Given the description of an element on the screen output the (x, y) to click on. 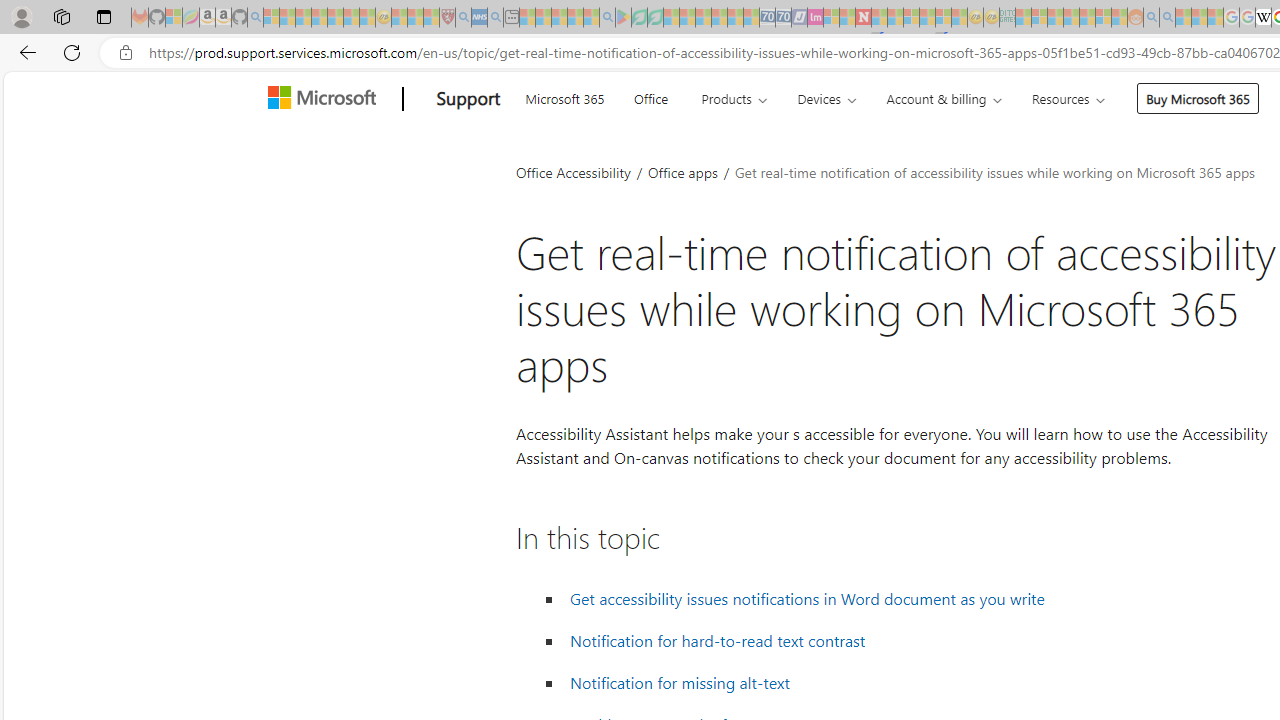
Office apps  (683, 172)
 Notification for missing alt-text (679, 682)
Target page - Wikipedia (1263, 17)
